Given the description of an element on the screen output the (x, y) to click on. 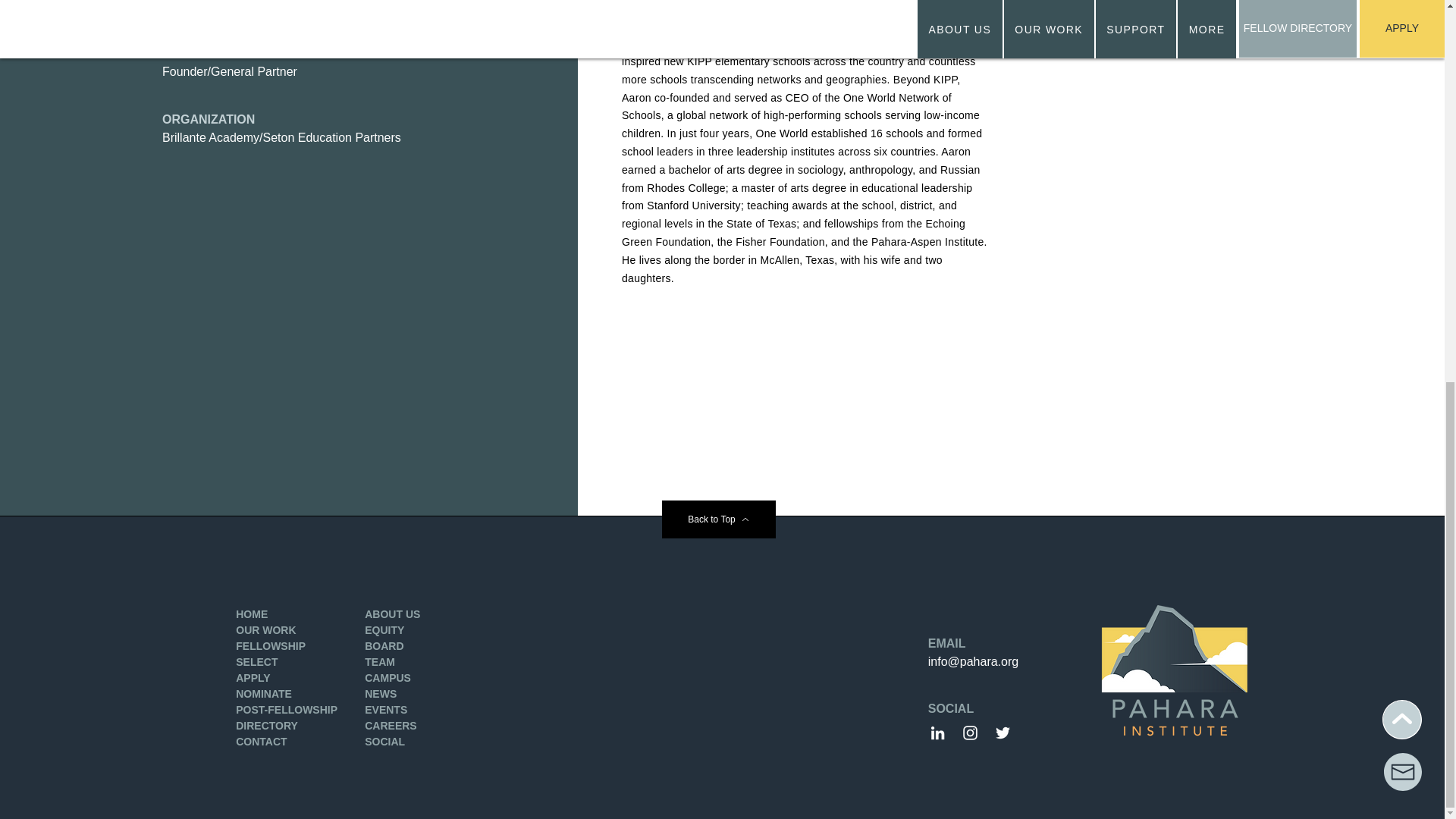
SOCIAL (384, 741)
APPLY (252, 677)
OUR WORK (265, 630)
EVENTS (386, 709)
NEWS (380, 693)
NOMINATE (263, 693)
Back to Top (717, 519)
EQUITY (384, 630)
CONTACT (260, 741)
BOARD (384, 645)
ABOUT US (392, 613)
FELLOWSHIP (270, 645)
CAMPUS (387, 677)
SELECT (256, 662)
TEAM (379, 662)
